Given the description of an element on the screen output the (x, y) to click on. 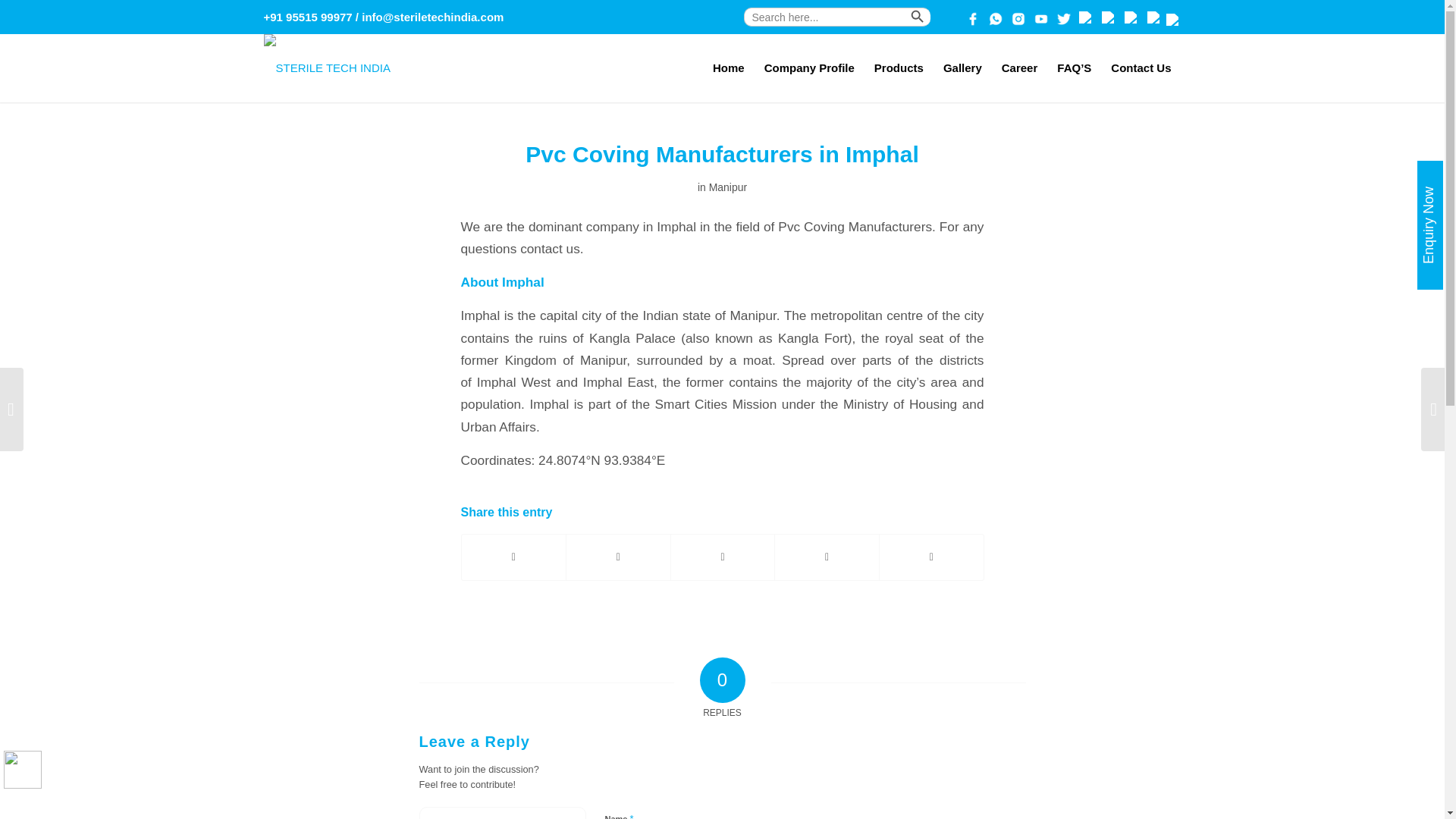
Products (898, 68)
Sterile Logo (326, 55)
Search Button (943, 23)
Company Profile (809, 68)
Sterile Logo (326, 68)
